Given the description of an element on the screen output the (x, y) to click on. 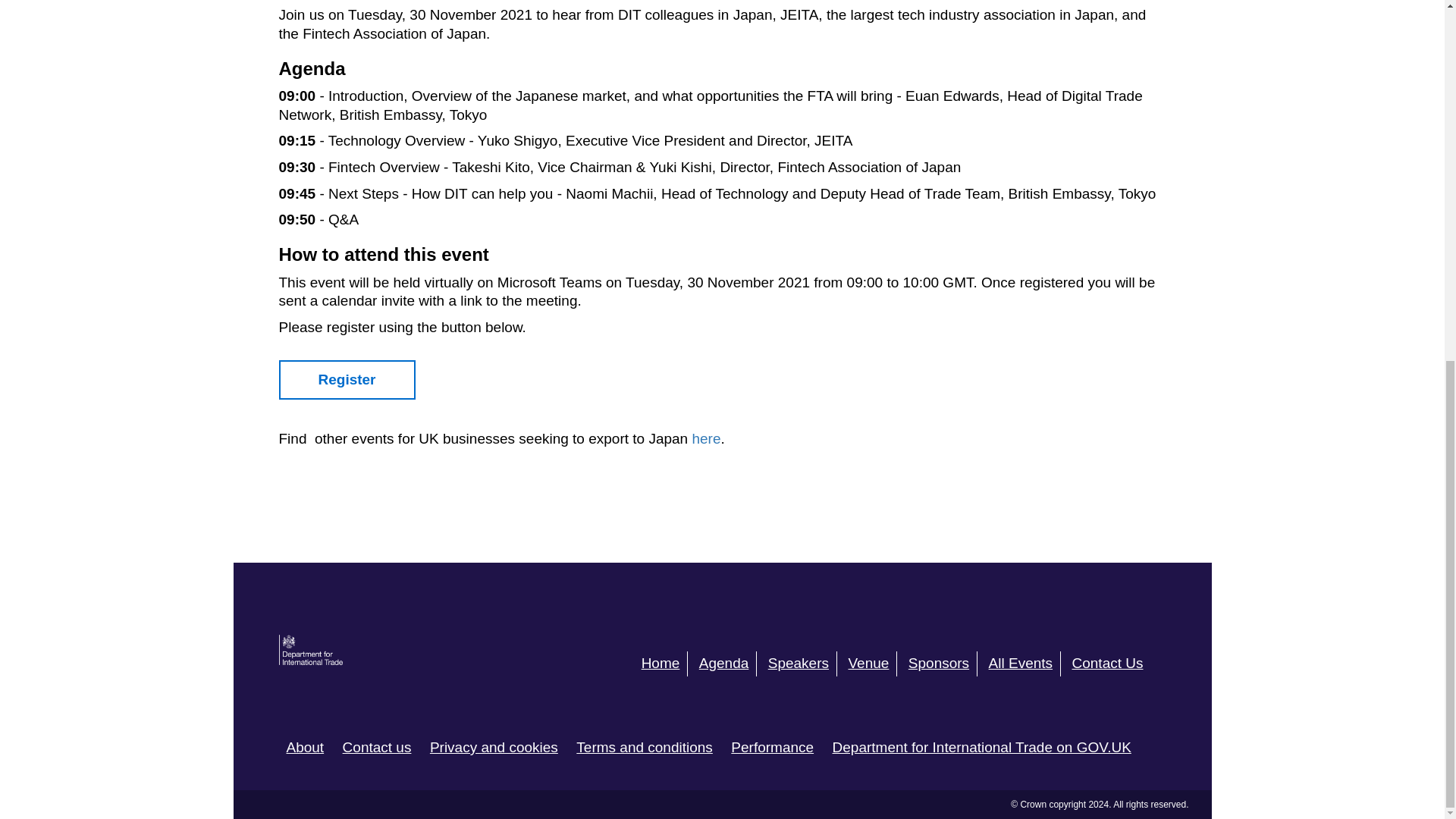
Department for International Trade on GOV.UK (981, 747)
Terms and conditions (644, 747)
About (305, 747)
here (705, 438)
Register (346, 380)
Speakers (802, 663)
Venue (871, 663)
Contact Us (1111, 663)
Contact us (377, 747)
Performance (771, 747)
